Given the description of an element on the screen output the (x, y) to click on. 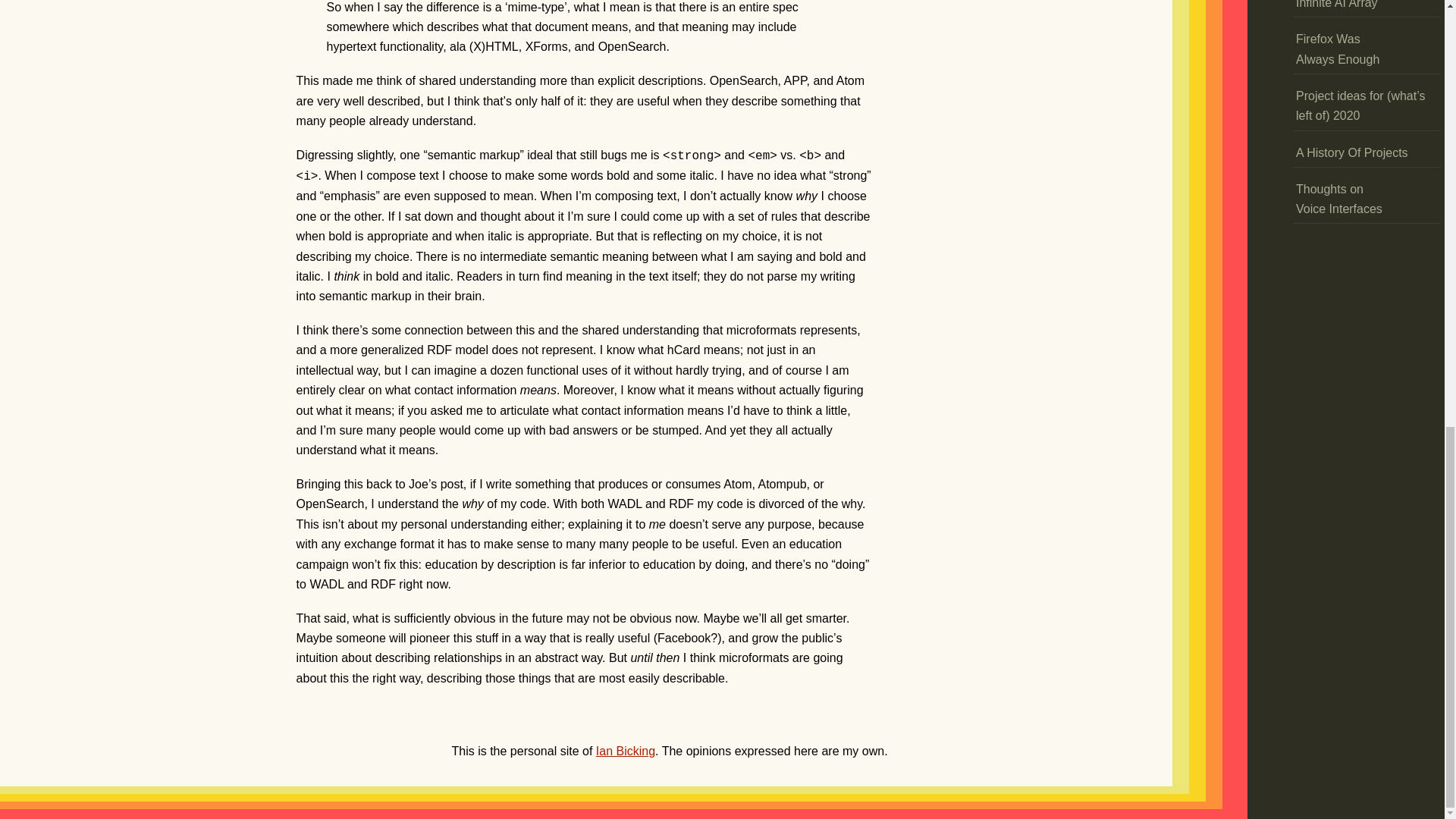
A History Of Projects (1351, 153)
Ian Bicking (625, 750)
Thoughts on Voice Interfaces (1366, 199)
Firefox Was Always Enough (1366, 49)
Infinite AI Array (1336, 8)
